Given the description of an element on the screen output the (x, y) to click on. 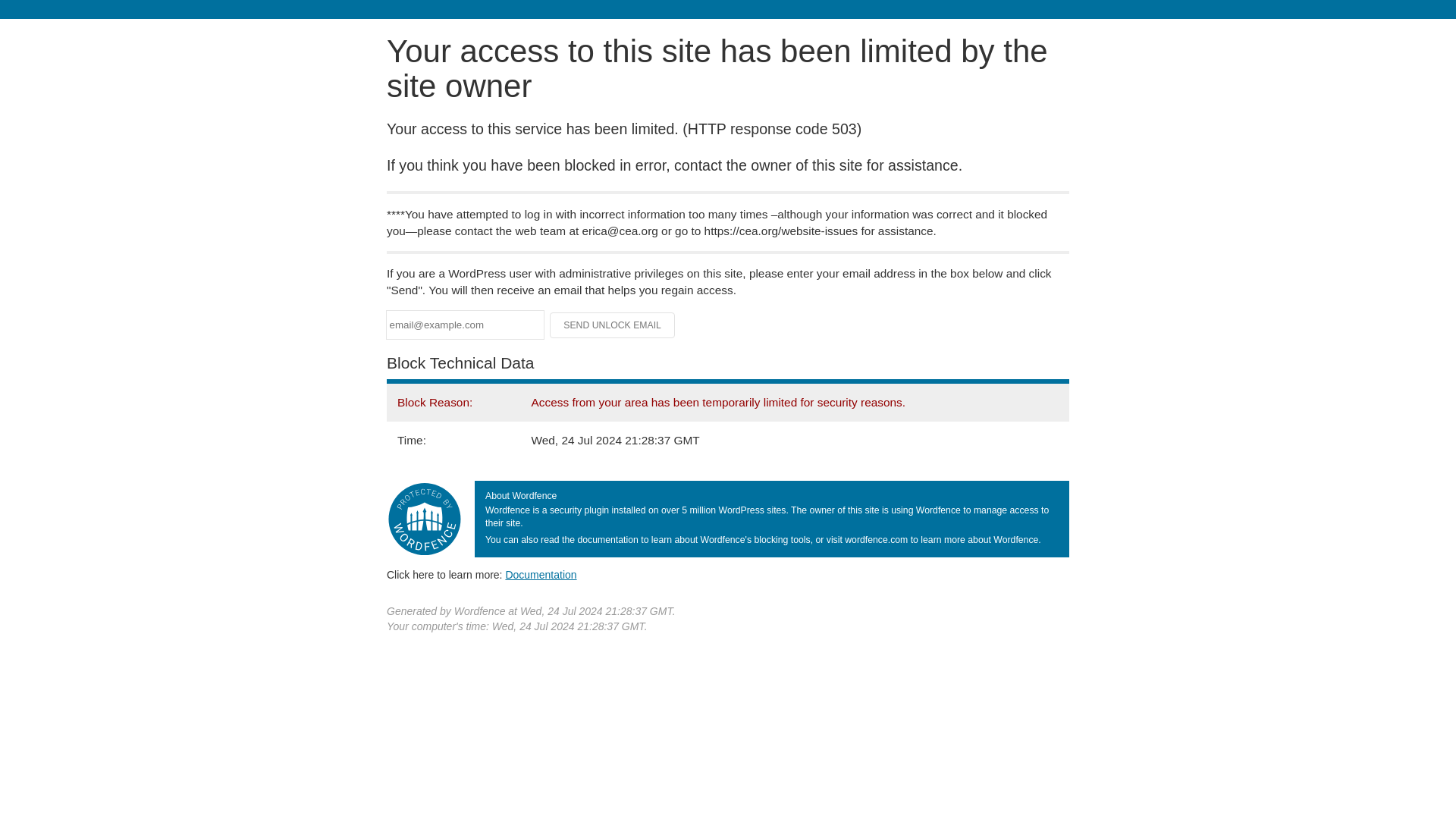
Send Unlock Email (612, 325)
Send Unlock Email (612, 325)
Documentation (540, 574)
